Given the description of an element on the screen output the (x, y) to click on. 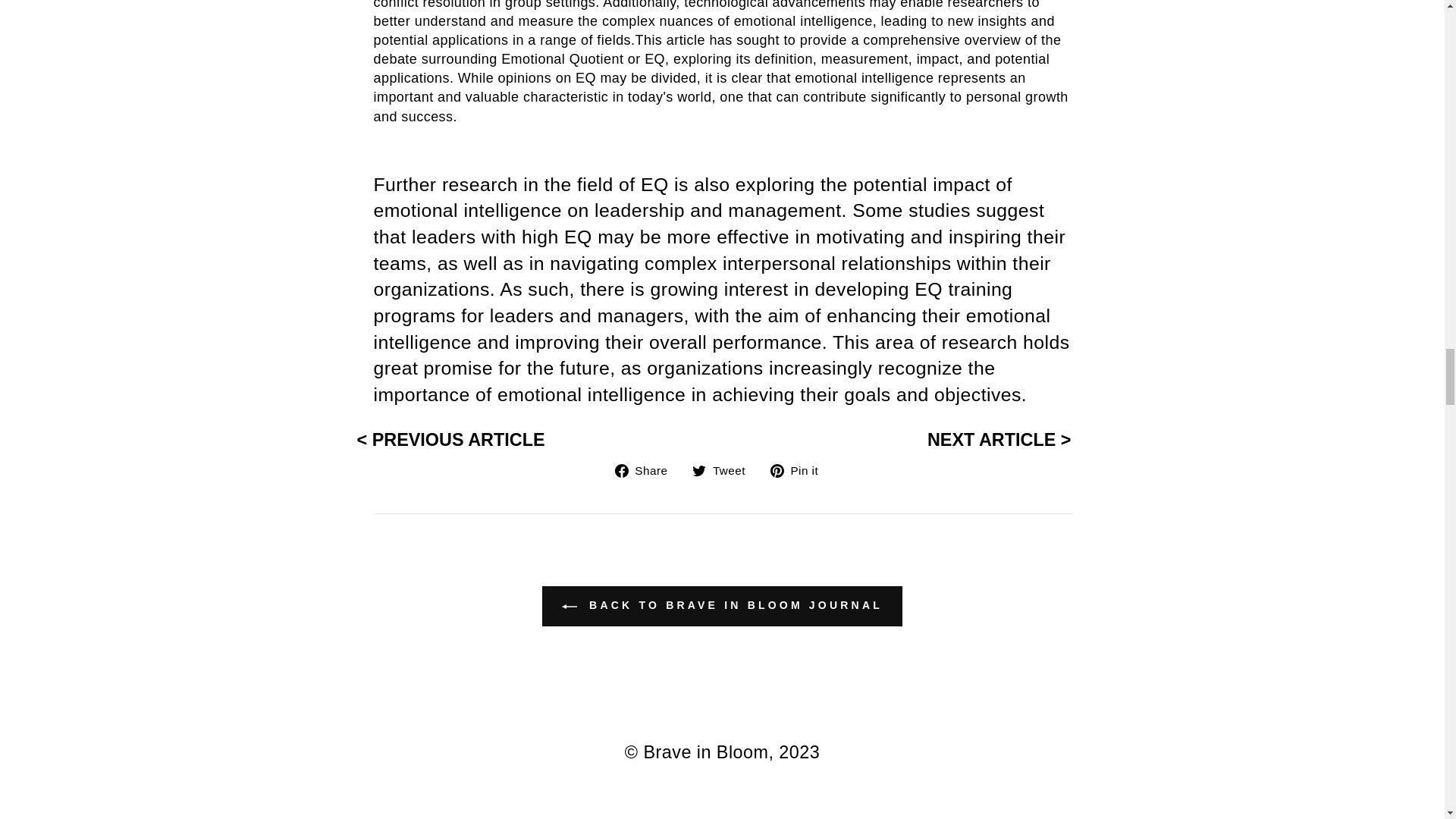
Tweet on Twitter (725, 469)
Pin on Pinterest (799, 469)
Share on Facebook (646, 469)
